Given the description of an element on the screen output the (x, y) to click on. 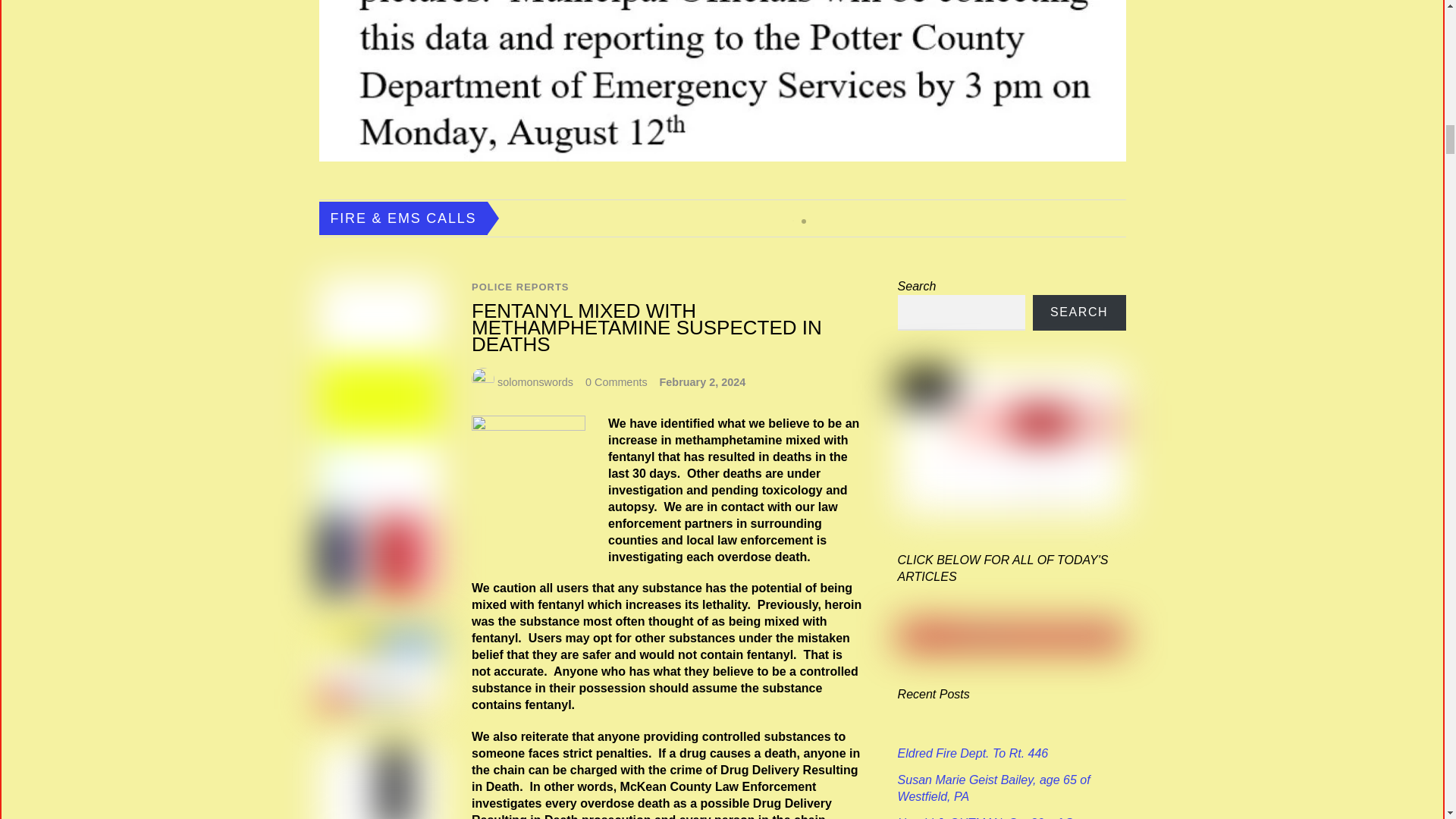
FENTANYL MIXED WITH METHAMPHETAMINE SUSPECTED IN DEATHS (646, 327)
POLICE REPORTS (520, 286)
0 Comments (616, 381)
Susan Marie Geist Bailey, age 65 of Westfield, PA (994, 788)
Eldred Fire Dept. To Rt. 446 (973, 753)
solomonswords (535, 381)
Harold J. OUTMAN, Sr., 82, of Genesee, PA (1007, 817)
SEARCH (1078, 312)
